Given the description of an element on the screen output the (x, y) to click on. 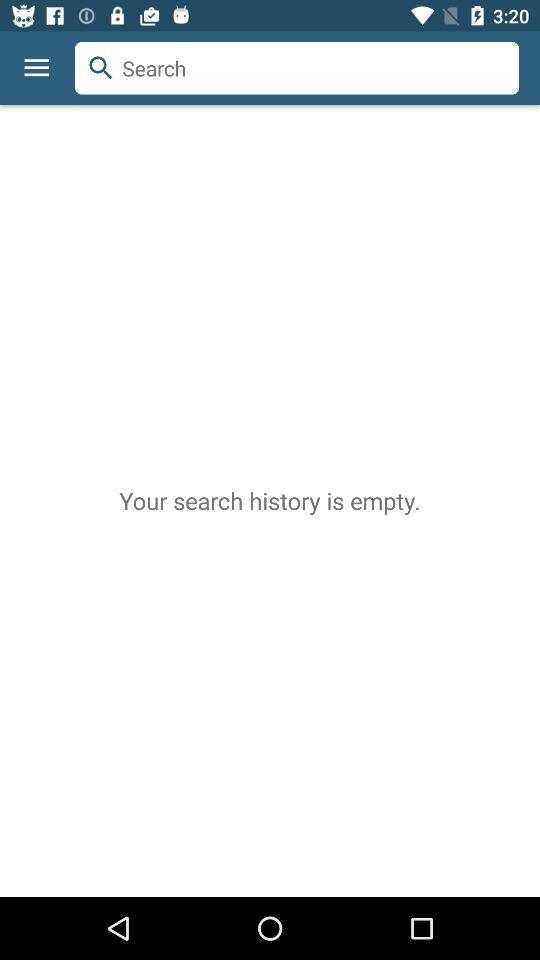
launch the icon above the your search history (36, 68)
